Given the description of an element on the screen output the (x, y) to click on. 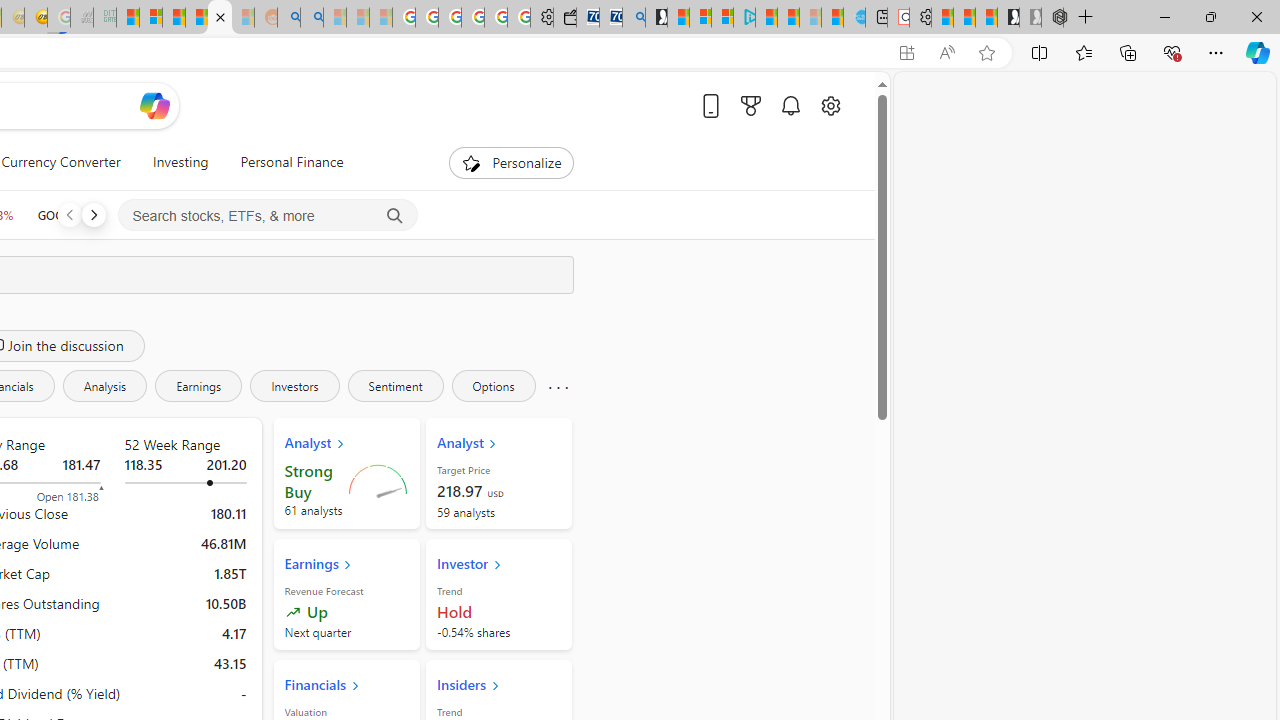
Personal Finance (292, 162)
Analysis (104, 385)
Investing (180, 162)
Previous (69, 214)
Student Loan Update: Forgiveness Program Ends This Month (196, 17)
